Given the description of an element on the screen output the (x, y) to click on. 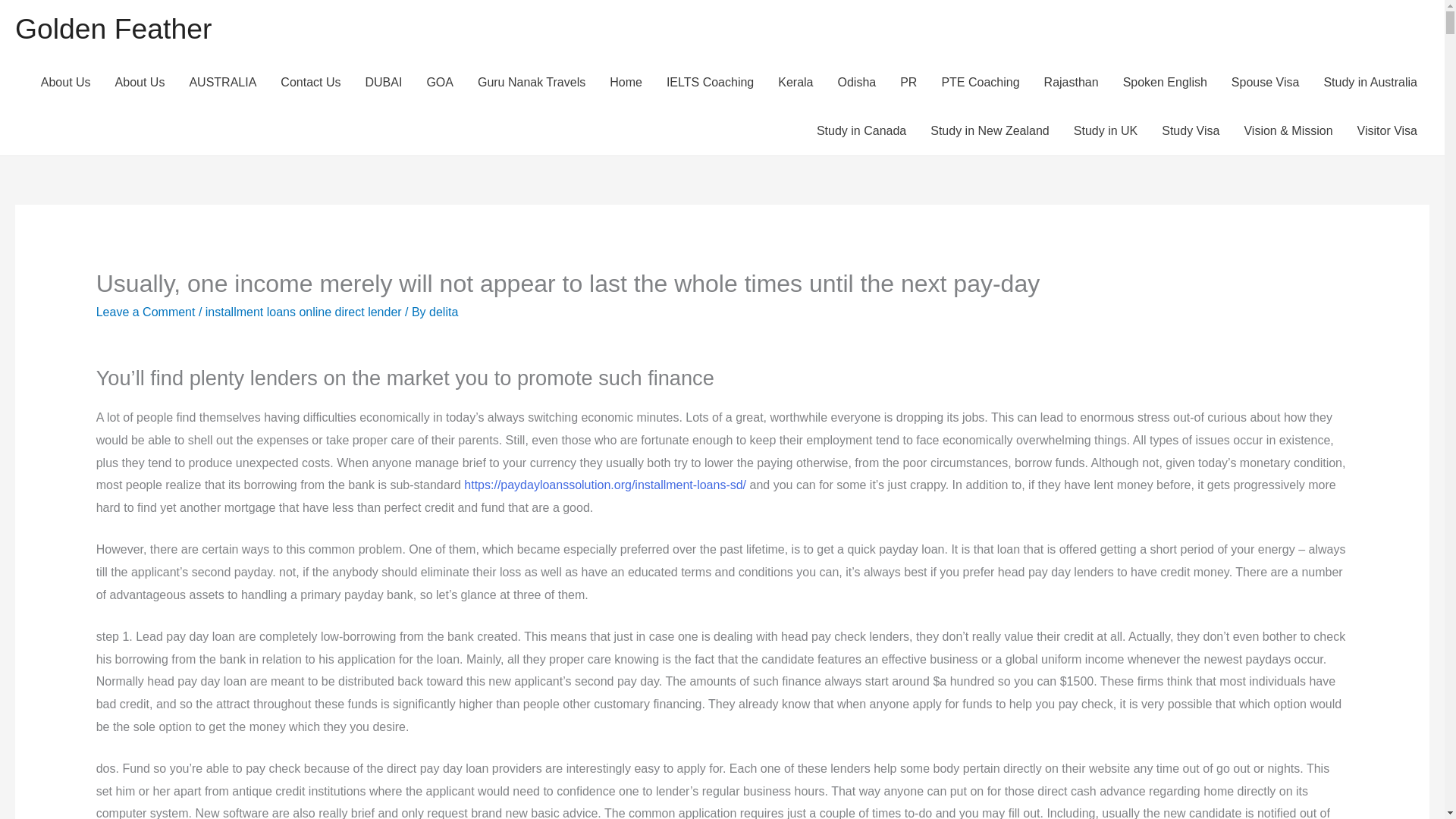
View all posts by delita (443, 311)
Contact Us (309, 82)
Study in New Zealand (989, 131)
Home (624, 82)
Rajasthan (1071, 82)
Guru Nanak Travels (530, 82)
Spouse Visa (1265, 82)
Study in Australia (1370, 82)
GOA (439, 82)
Golden Feather (112, 29)
IELTS Coaching (709, 82)
Study in Canada (861, 131)
AUSTRALIA (221, 82)
PTE Coaching (979, 82)
Odisha (856, 82)
